Given the description of an element on the screen output the (x, y) to click on. 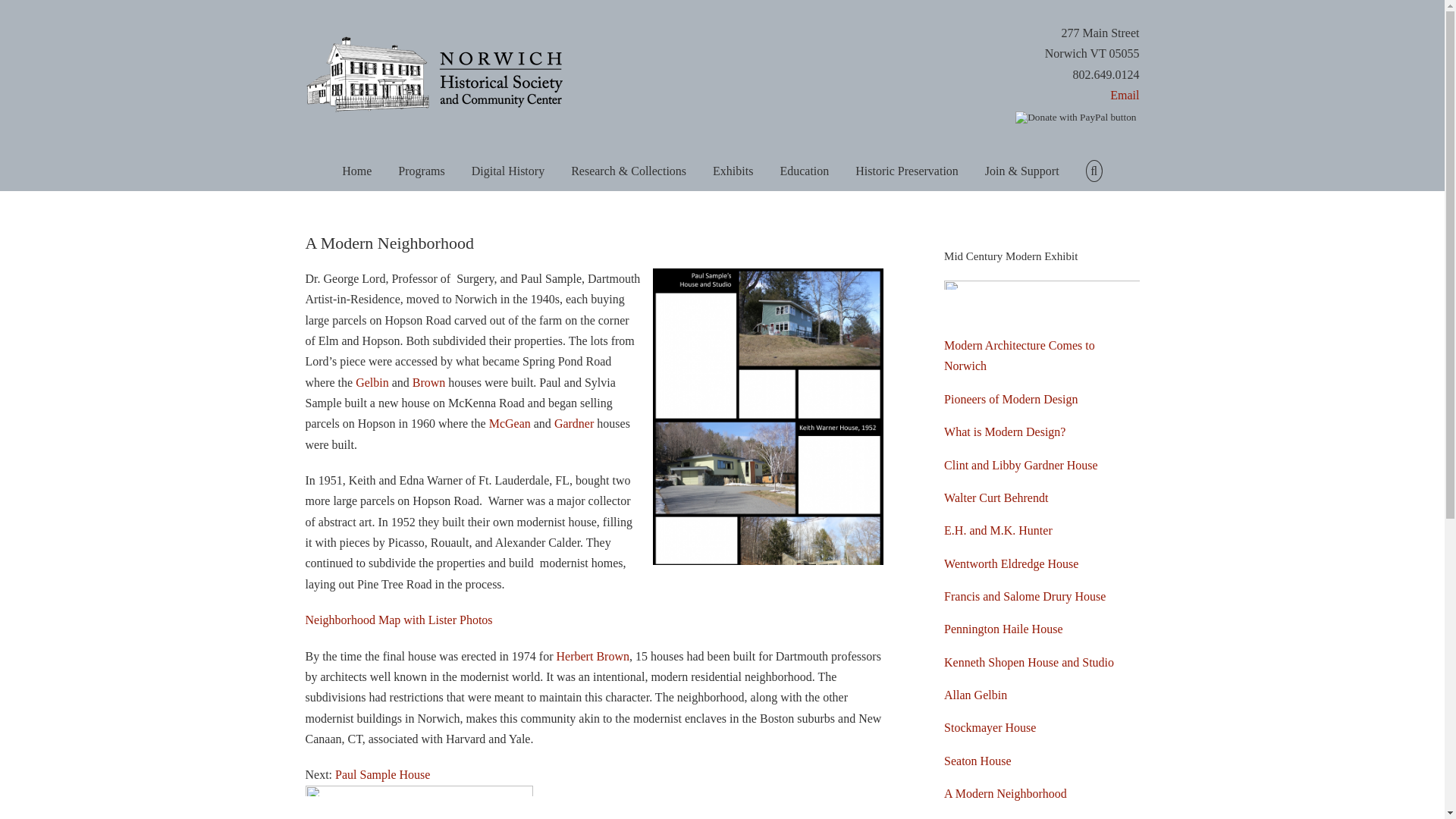
PayPal - The safer, easier way to pay online! (1074, 117)
Exhibits (732, 169)
Education (803, 169)
Email (1076, 95)
Programs (420, 169)
Digital History (507, 169)
